Given the description of an element on the screen output the (x, y) to click on. 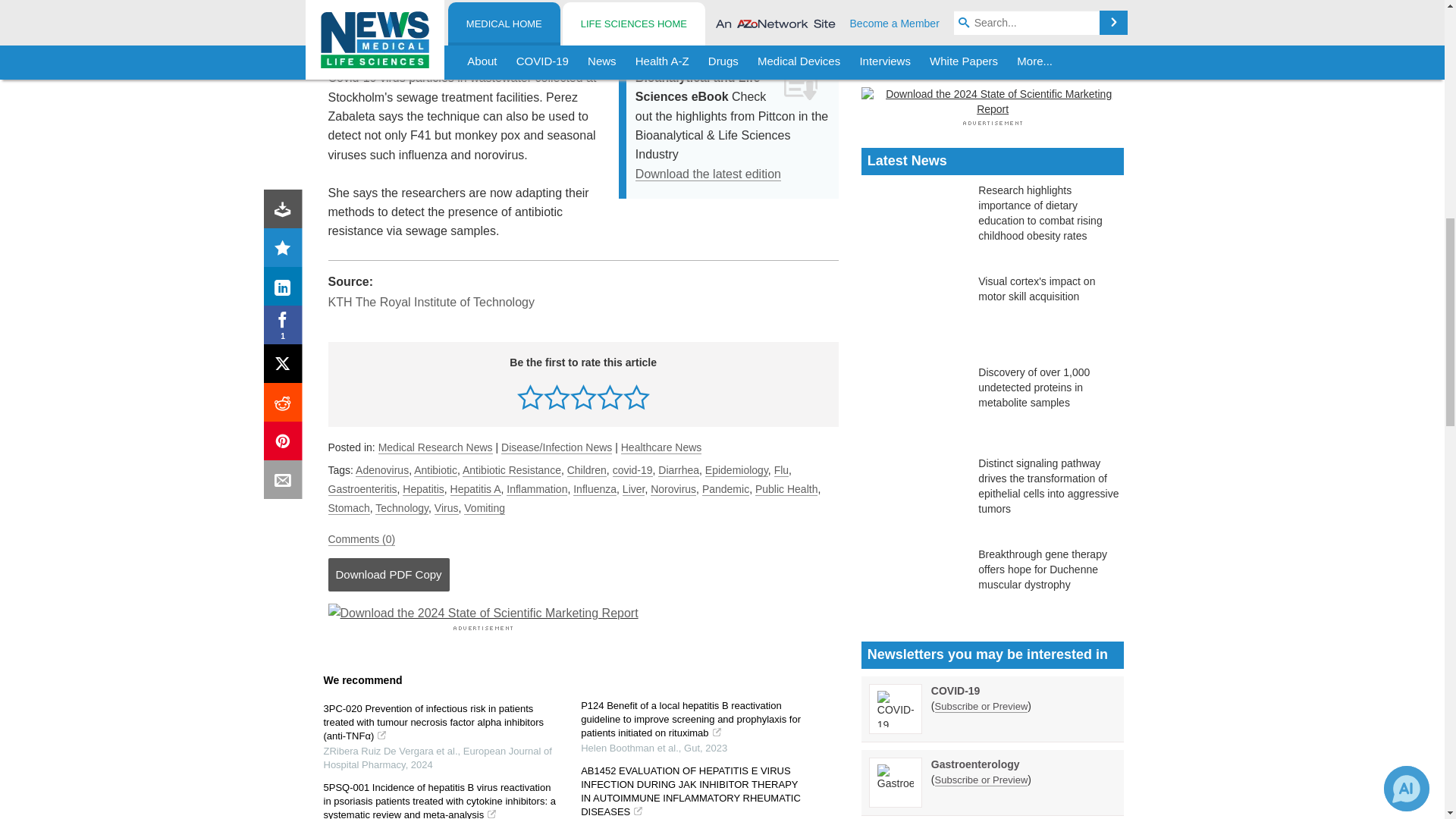
Rate this 5 stars out of 5 (636, 397)
